Given the description of an element on the screen output the (x, y) to click on. 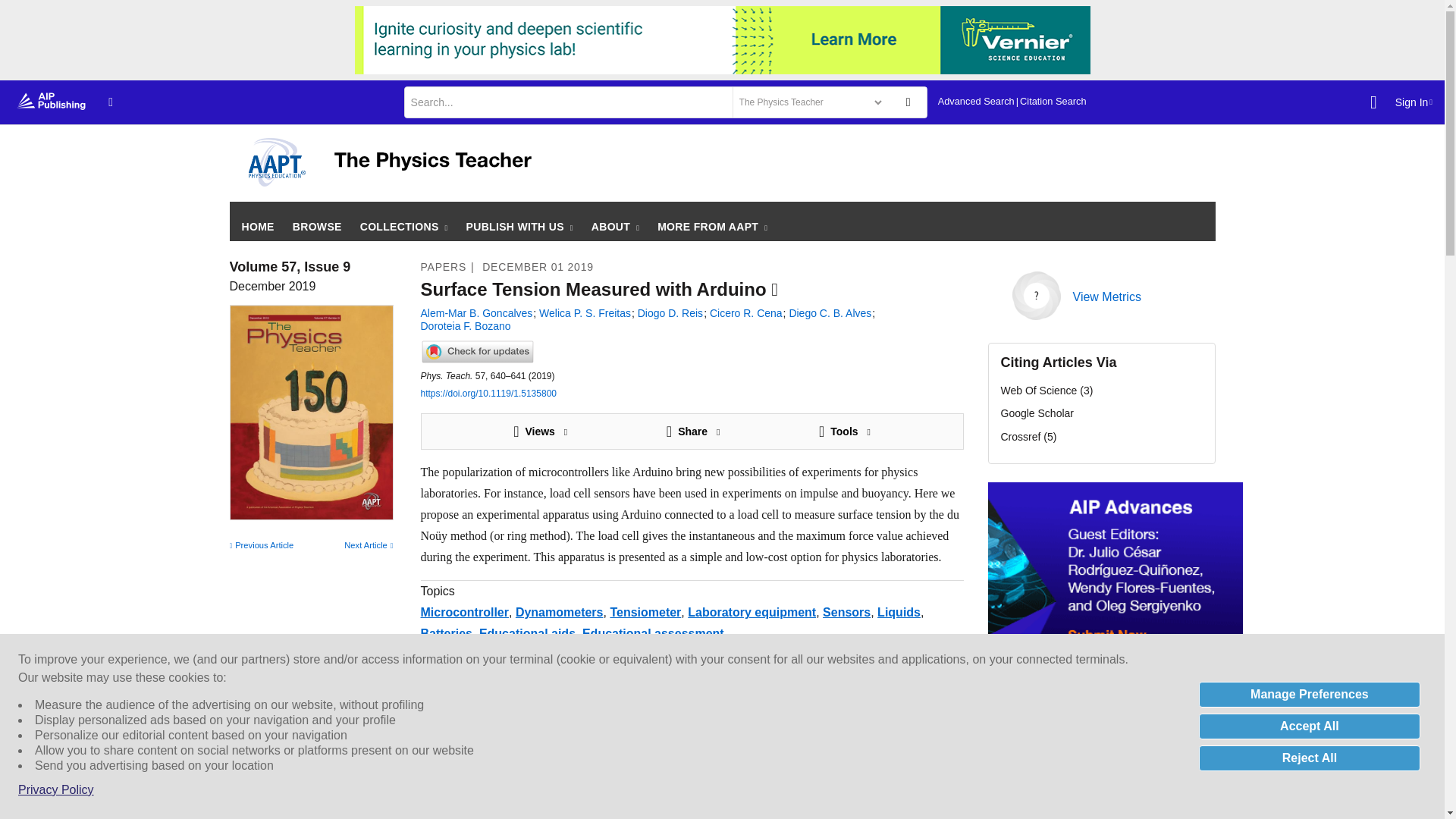
Manage Preferences (1309, 694)
Available to Purchase (774, 289)
Sign In (1413, 102)
Accept All (1309, 726)
search input (566, 101)
Privacy Policy (55, 789)
Advanced Search (975, 101)
Citation Search (1053, 101)
Reject All (1309, 758)
